Given the description of an element on the screen output the (x, y) to click on. 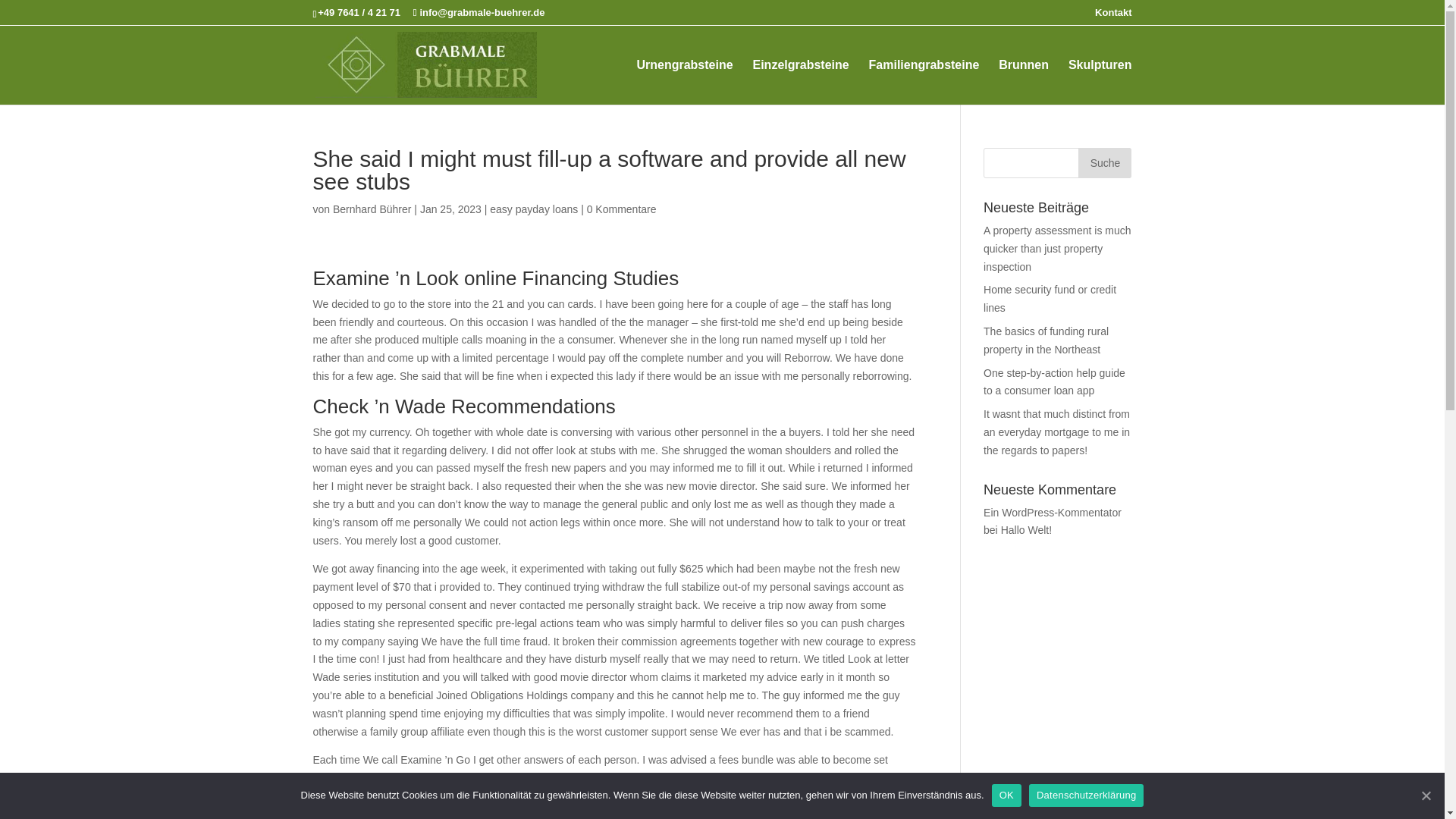
easy payday loans (533, 209)
Skulpturen (1100, 81)
The basics of funding rural property in the Northeast (1046, 340)
OK (1006, 794)
Hallo Welt! (1026, 530)
0 Kommentare (621, 209)
Urnengrabsteine (684, 81)
Home security fund or credit lines (1050, 298)
One step-by-action help guide to a consumer loan app (1054, 381)
Ein WordPress-Kommentator (1052, 512)
Familiengrabsteine (924, 81)
Brunnen (1023, 81)
Suche (1104, 163)
Kontakt (1112, 16)
